Given the description of an element on the screen output the (x, y) to click on. 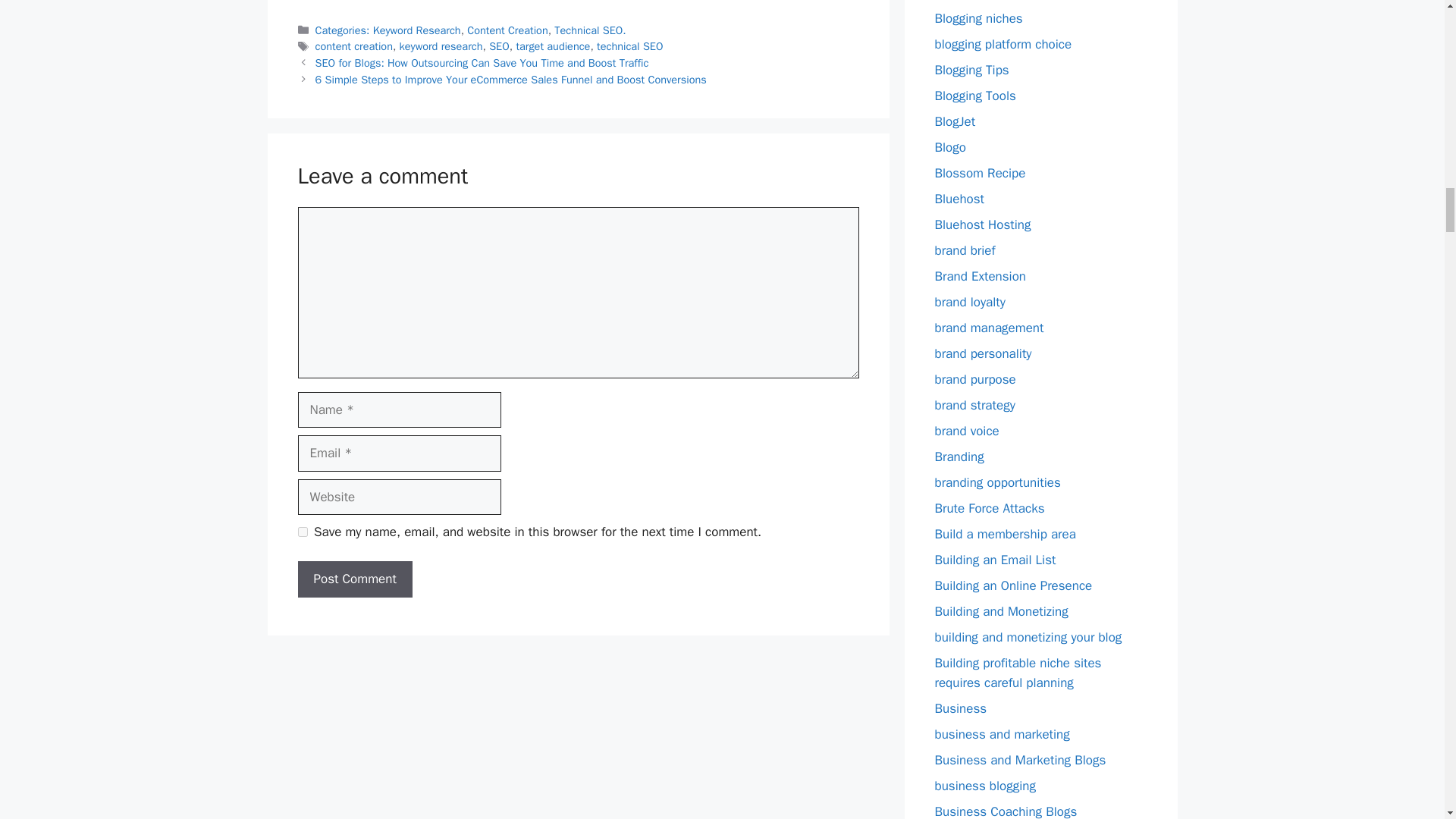
keyword research (440, 46)
yes (302, 532)
Categories: Keyword Research (388, 29)
Post Comment (354, 579)
technical SEO (629, 46)
Post Comment (354, 579)
SEO (499, 46)
Content Creation (507, 29)
